Given the description of an element on the screen output the (x, y) to click on. 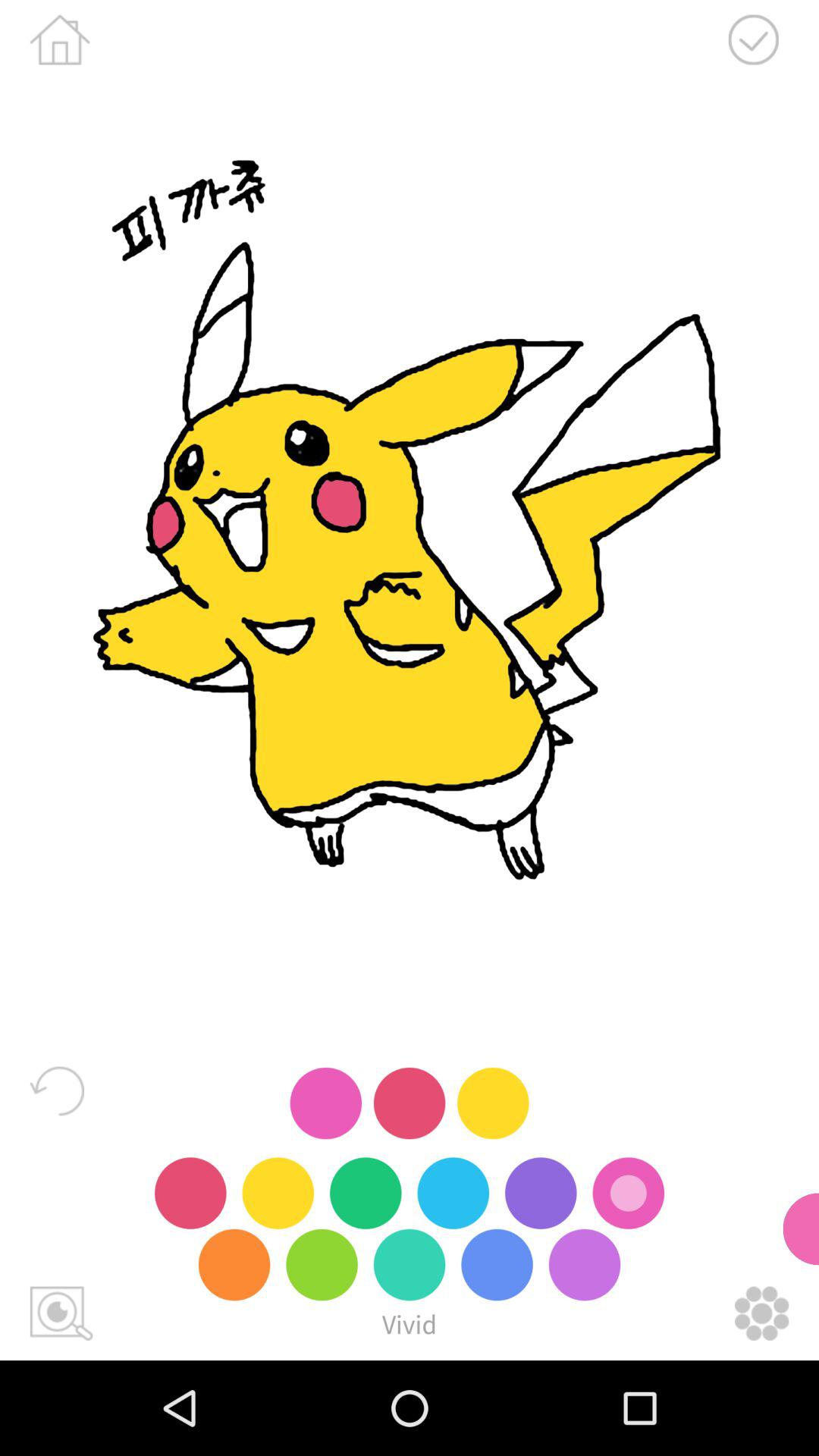
save your work (753, 39)
